Given the description of an element on the screen output the (x, y) to click on. 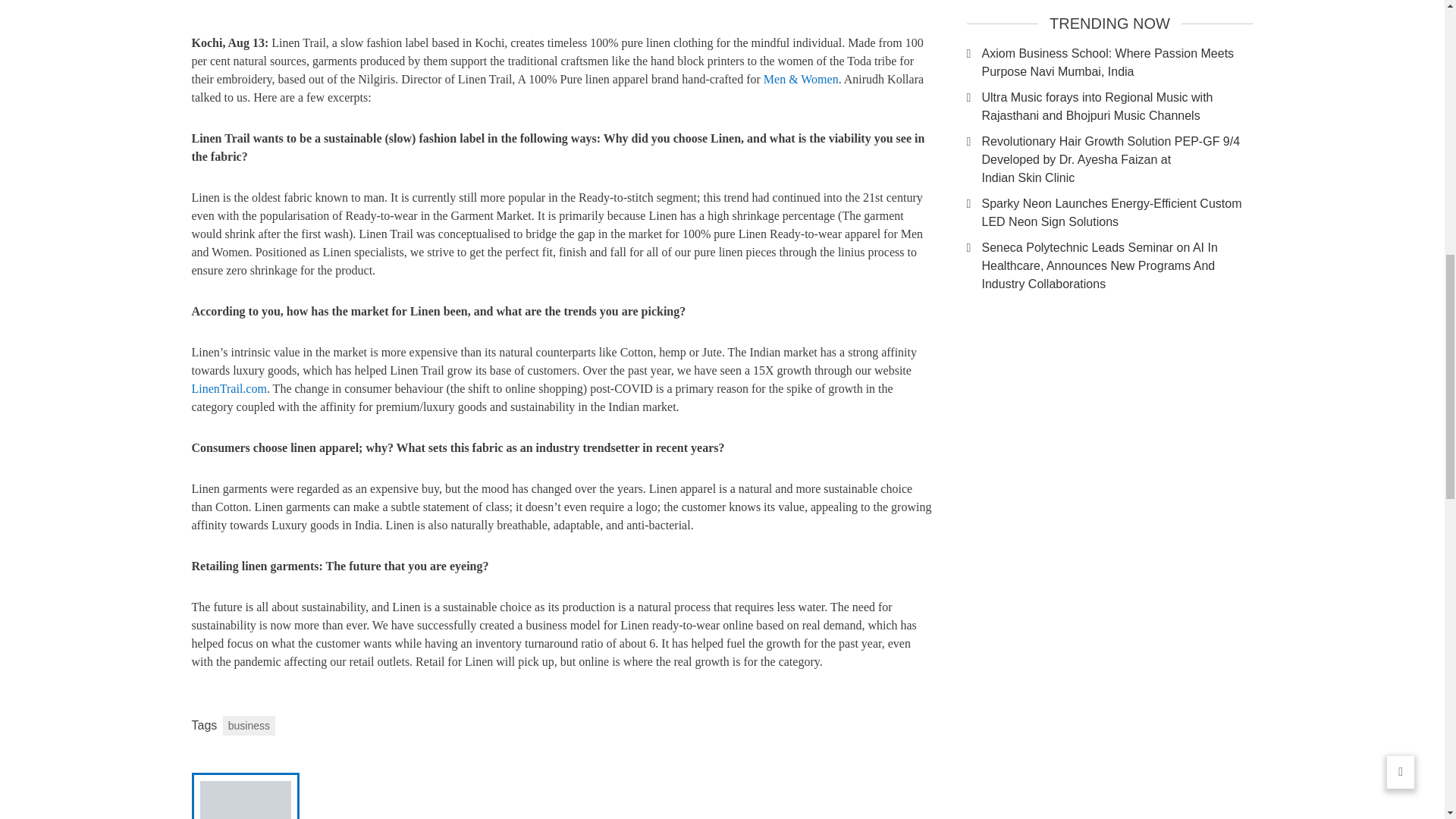
business (248, 725)
LinenTrail.com (228, 388)
